Given the description of an element on the screen output the (x, y) to click on. 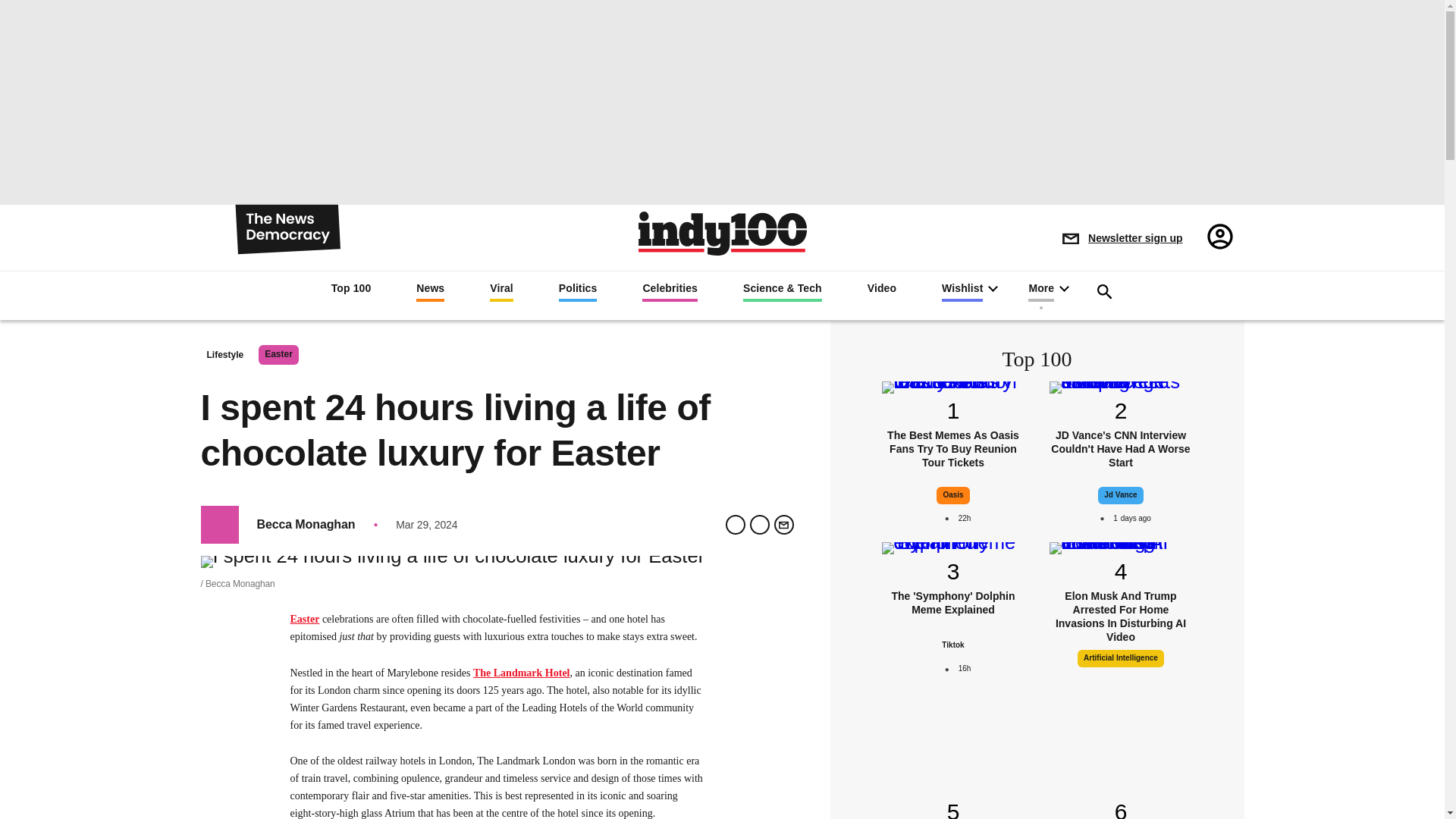
Celebrities (669, 291)
Indy100 logo (722, 232)
News (430, 291)
Politics (577, 291)
Top 100 (351, 289)
Viral (501, 291)
Newsletter sign up (1122, 238)
